Given the description of an element on the screen output the (x, y) to click on. 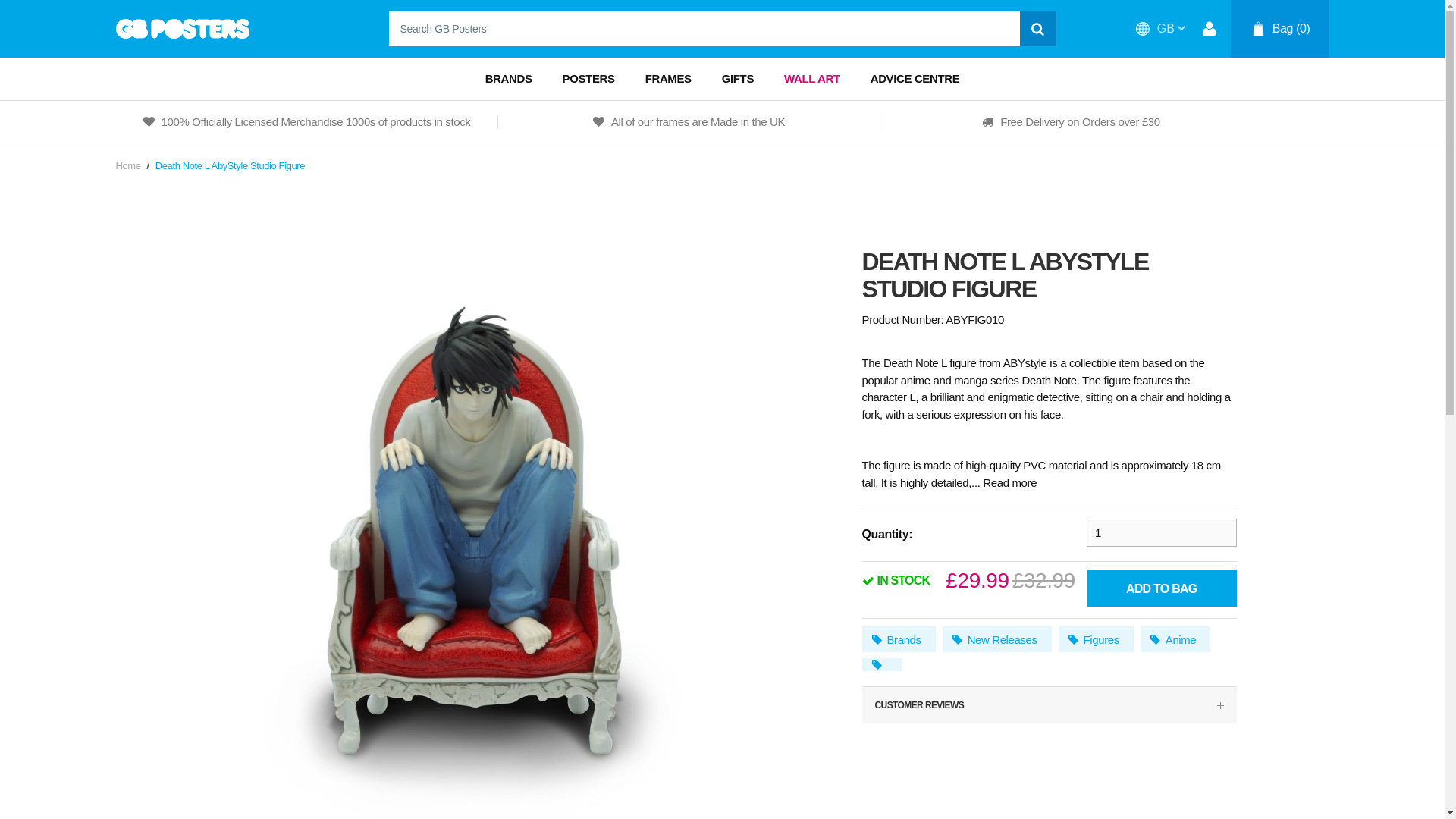
BRANDS (508, 78)
Frames (668, 78)
SEARCH (1037, 28)
1 (1161, 532)
Search (1037, 28)
GB Posters (181, 28)
Posters (588, 78)
POSTERS (588, 78)
Brands (508, 78)
